Given the description of an element on the screen output the (x, y) to click on. 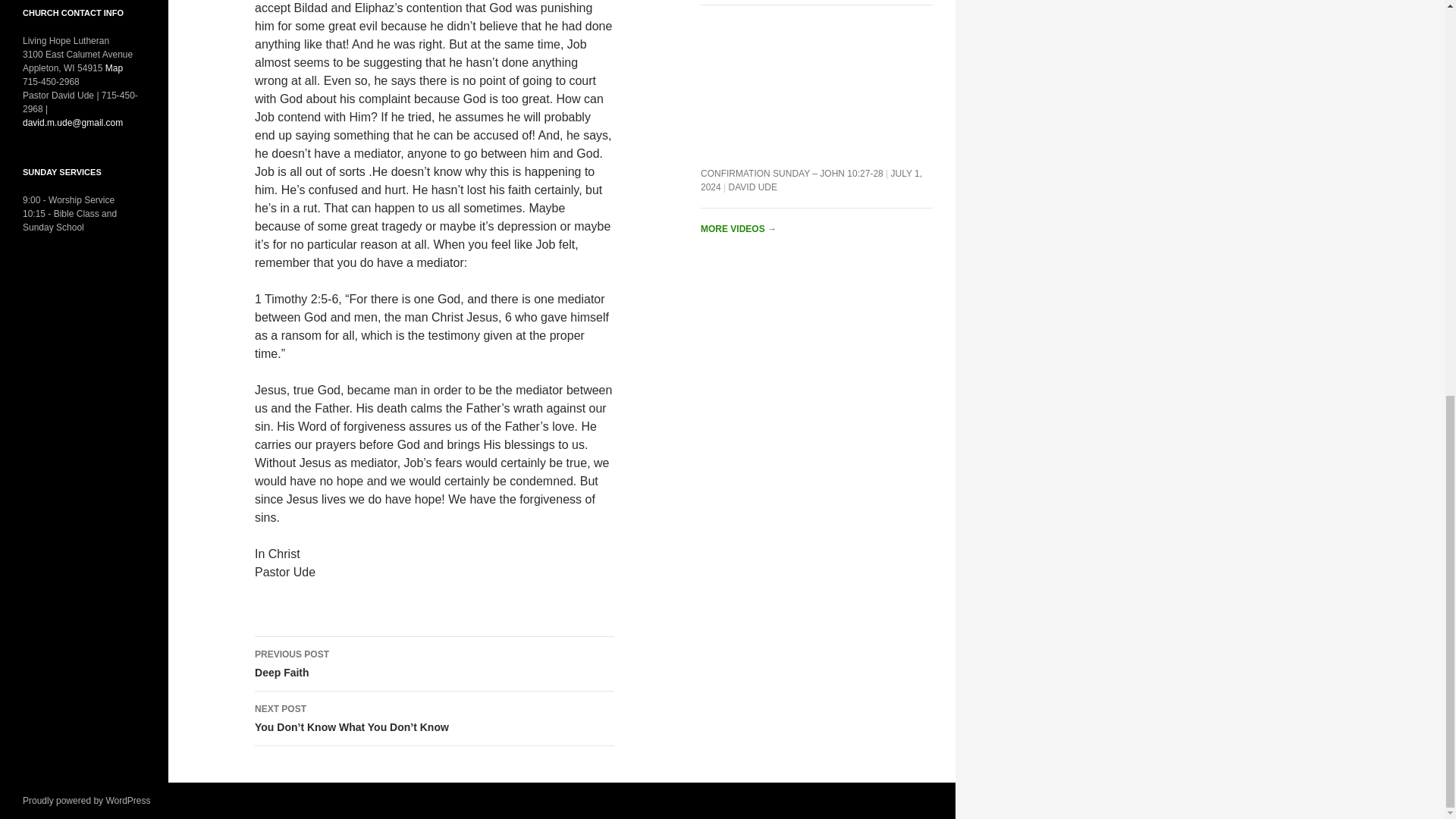
Confirmation Sunday - John 10:27-28 (434, 664)
JULY 1, 2024 (816, 83)
DAVID UDE (810, 180)
